Given the description of an element on the screen output the (x, y) to click on. 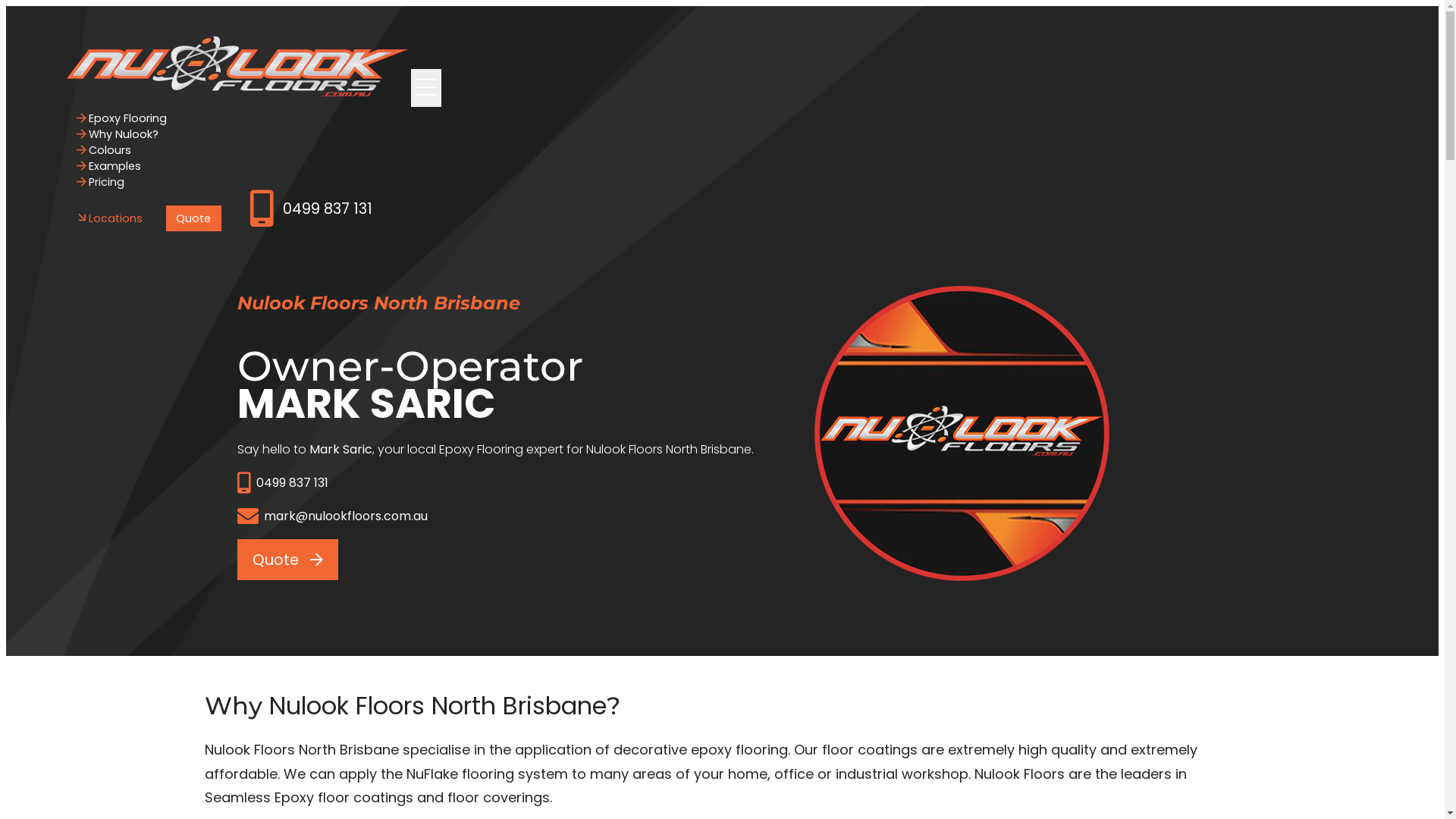
Pricing Element type: text (100, 181)
Quote Element type: text (286, 559)
Epoxy Flooring Element type: text (121, 117)
Locations Element type: text (109, 217)
Colours Element type: text (103, 149)
Why Nulook? Element type: text (117, 133)
mark@nulookfloors.com.au Element type: text (494, 516)
0499 837 131 Element type: text (494, 482)
Examples Element type: text (108, 165)
Quote Element type: text (193, 218)
0499 837 131 Element type: text (311, 208)
